Given the description of an element on the screen output the (x, y) to click on. 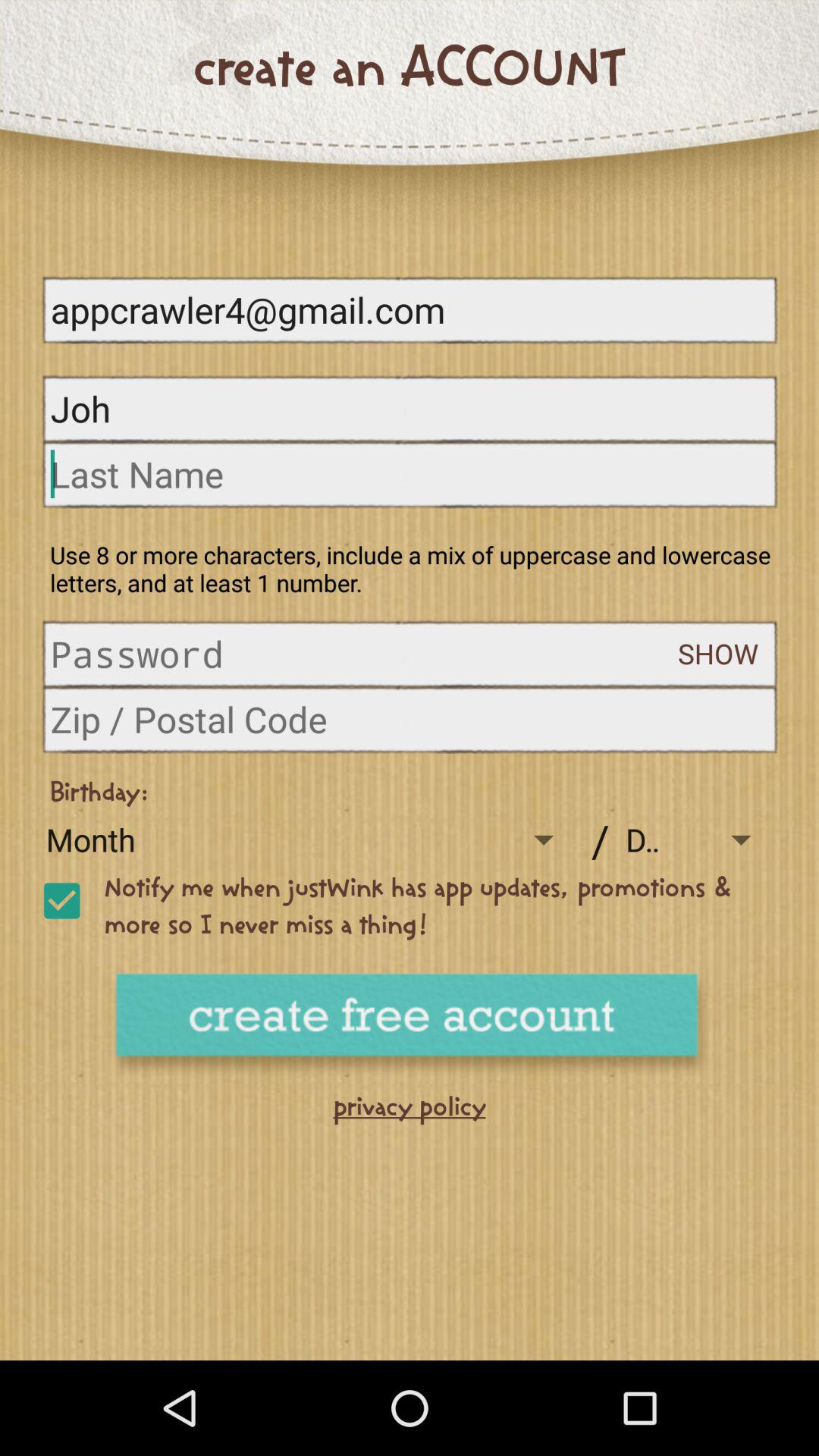
create new account (409, 1025)
